Given the description of an element on the screen output the (x, y) to click on. 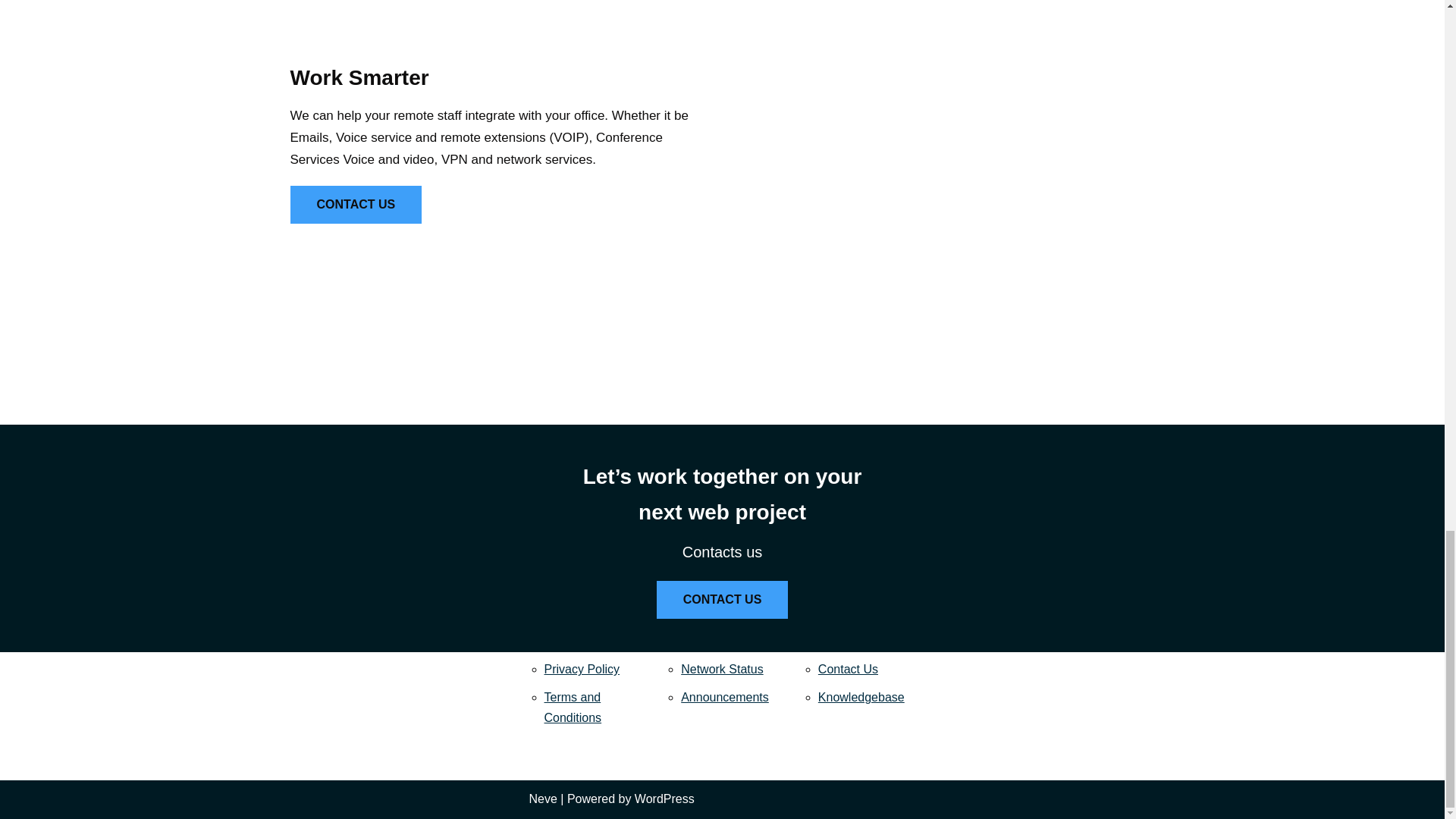
CONTACT US (722, 599)
Network Status (721, 668)
Contact Us (847, 668)
CONTACT US (355, 204)
Privacy Policy (582, 668)
WordPress (664, 798)
Announcements (724, 697)
Neve (543, 798)
Terms and Conditions (573, 707)
Knowledgebase (861, 697)
